Given the description of an element on the screen output the (x, y) to click on. 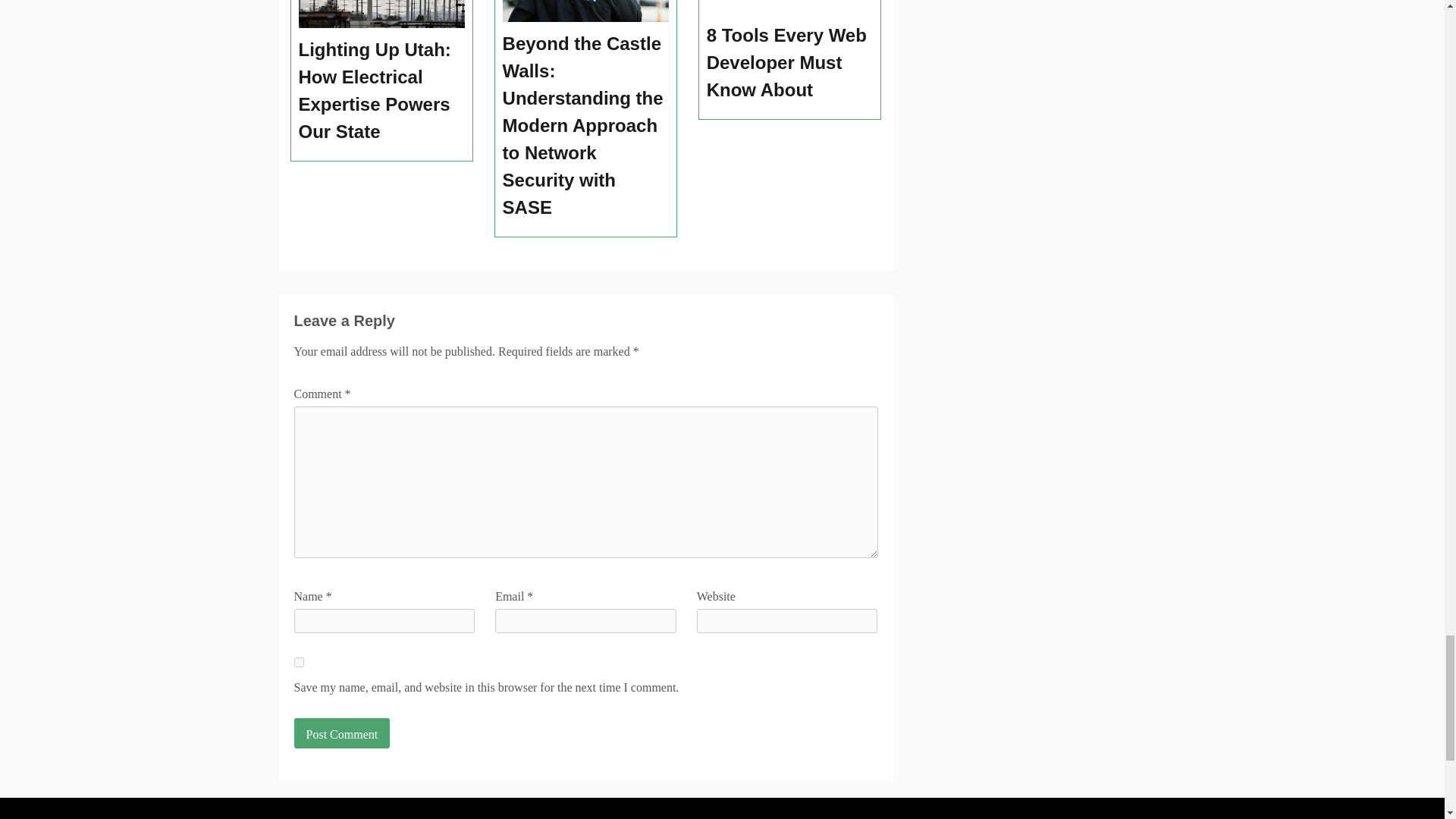
Post Comment (342, 733)
Post Comment (342, 733)
8 Tools Every Web Developer Must Know About (789, 63)
Lighting Up Utah: How Electrical Expertise Powers Our State (381, 90)
yes (299, 662)
